Given the description of an element on the screen output the (x, y) to click on. 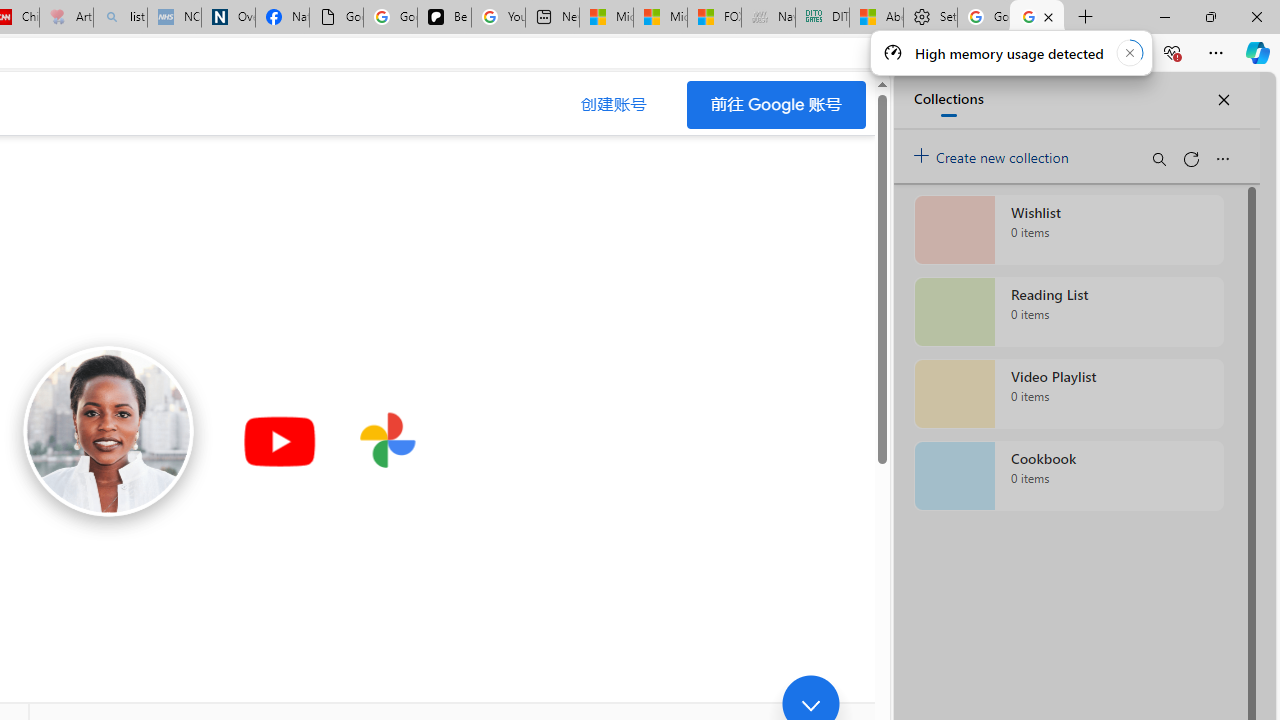
High memory usage detected (1009, 52)
